Given the description of an element on the screen output the (x, y) to click on. 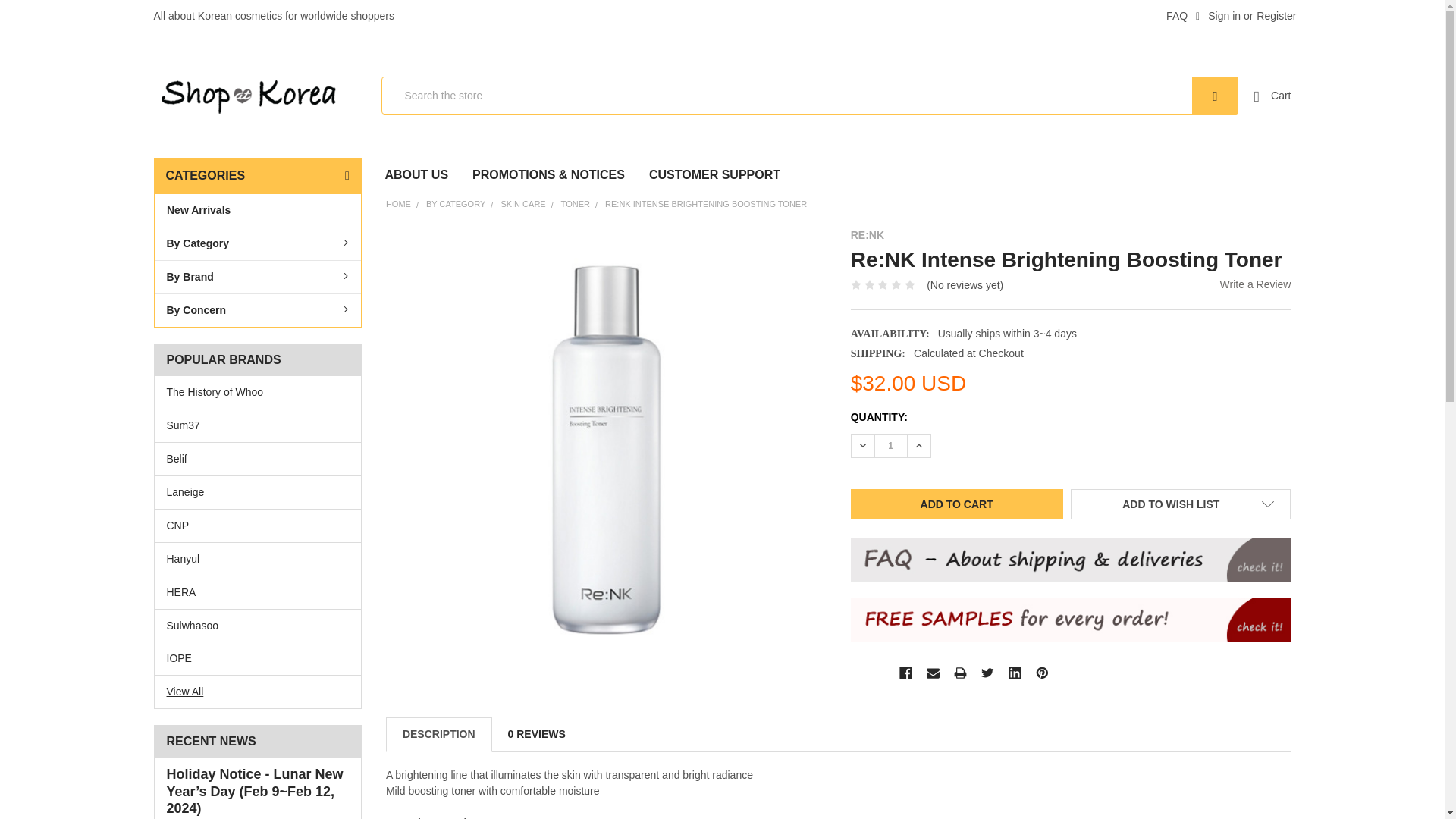
Cart (1272, 95)
1 (891, 445)
IOPE (258, 658)
Register (1275, 16)
CNP (258, 525)
Hanyul (258, 559)
Free samples (1070, 620)
The History of Whoo (258, 392)
Search (1215, 95)
Sign in (1218, 16)
Laneige (258, 492)
Cart (1272, 95)
Search (1215, 95)
FAQ (1172, 16)
